Given the description of an element on the screen output the (x, y) to click on. 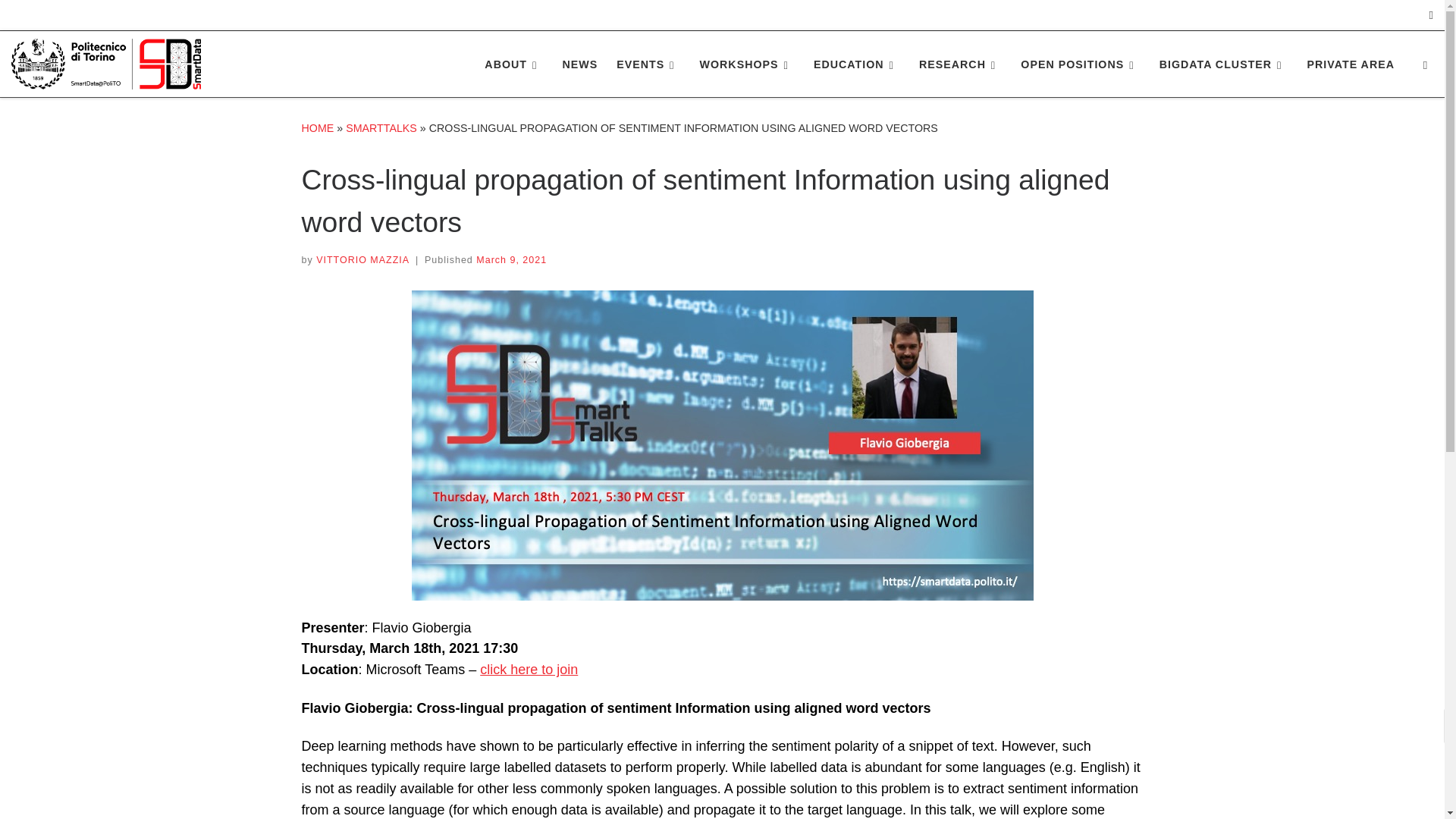
RESEARCH (960, 64)
ABOUT (514, 64)
Skip to content (60, 20)
BIGDATA CLUSTER (1223, 64)
11:56 pm (511, 259)
SmartTalks (381, 128)
NEWS (579, 64)
View all posts by VITTORIO MAZZIA (362, 259)
EVENTS (648, 64)
EDUCATION (857, 64)
WORKSHOPS (746, 64)
OPEN POSITIONS (1080, 64)
